Given the description of an element on the screen output the (x, y) to click on. 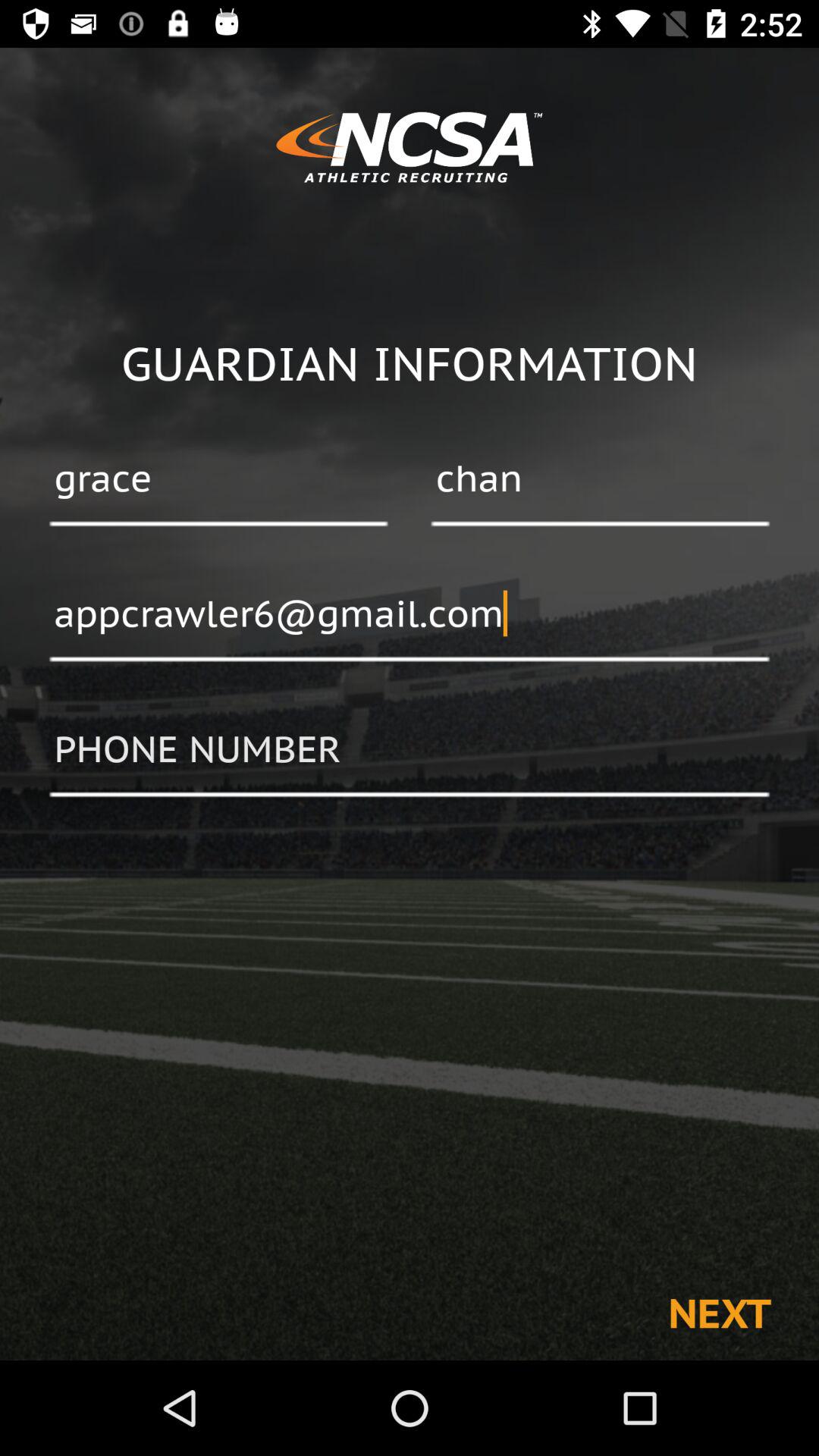
turn on item below grace (409, 615)
